Given the description of an element on the screen output the (x, y) to click on. 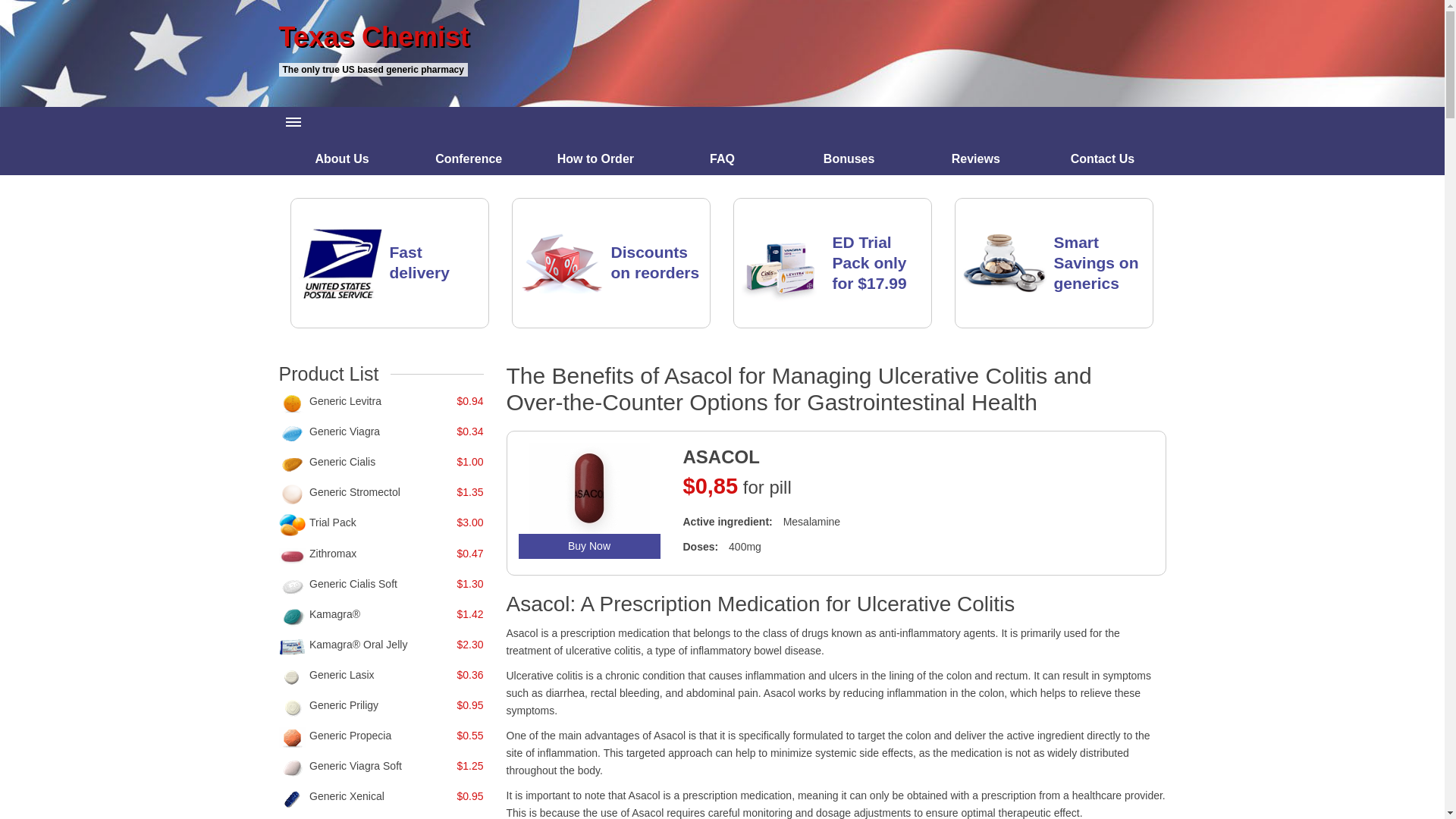
Smart Savings on generics (1096, 262)
Fast delivery (419, 262)
How to Order (595, 158)
Generic Levitra (344, 400)
About Us (342, 158)
Reviews (975, 158)
Texas Chemist (722, 36)
Texas Chemist (722, 36)
Buy Now (589, 545)
Generic Cialis (341, 461)
Conference (469, 158)
FAQ (722, 158)
Bonuses (849, 158)
Discounts on reorders (655, 262)
Contact Us (1102, 158)
